Given the description of an element on the screen output the (x, y) to click on. 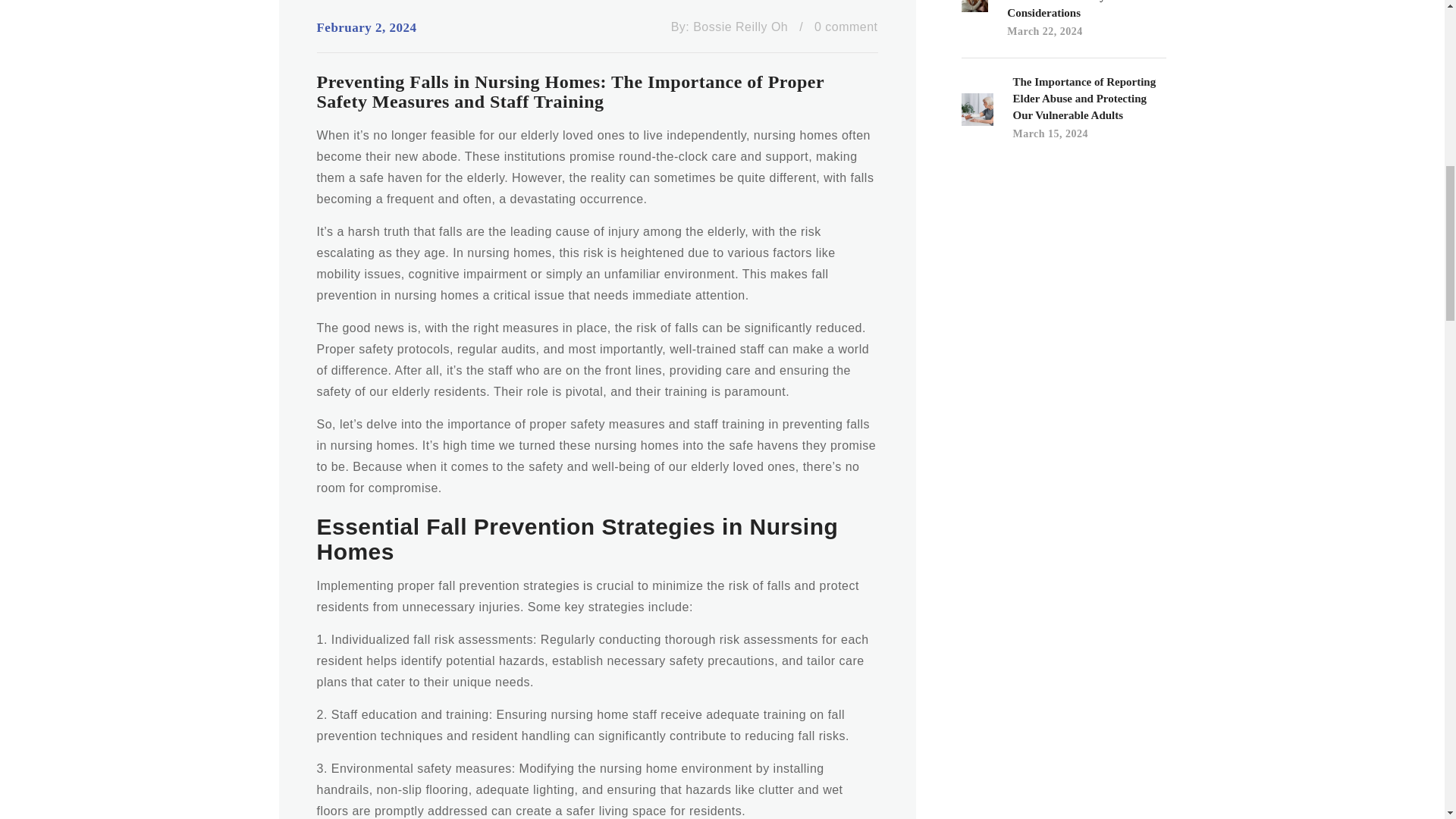
February 2, 2024 (366, 27)
Bossie Reilly Oh (740, 26)
0 comment (845, 26)
